Given the description of an element on the screen output the (x, y) to click on. 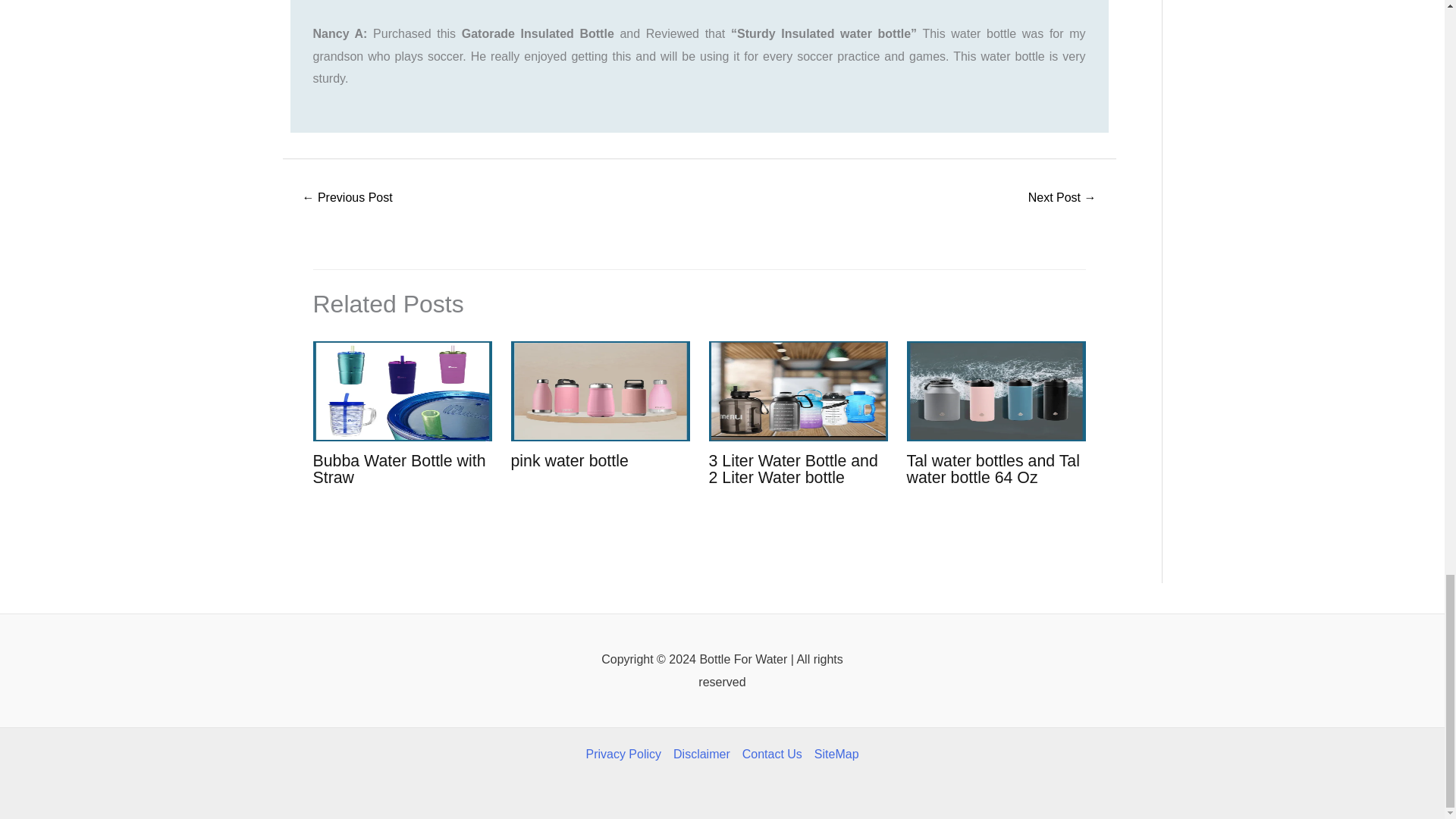
pink water bottle (569, 461)
nike water bottles (1062, 198)
football water bottles (346, 198)
Bubba Water Bottle with Straw (398, 469)
